Given the description of an element on the screen output the (x, y) to click on. 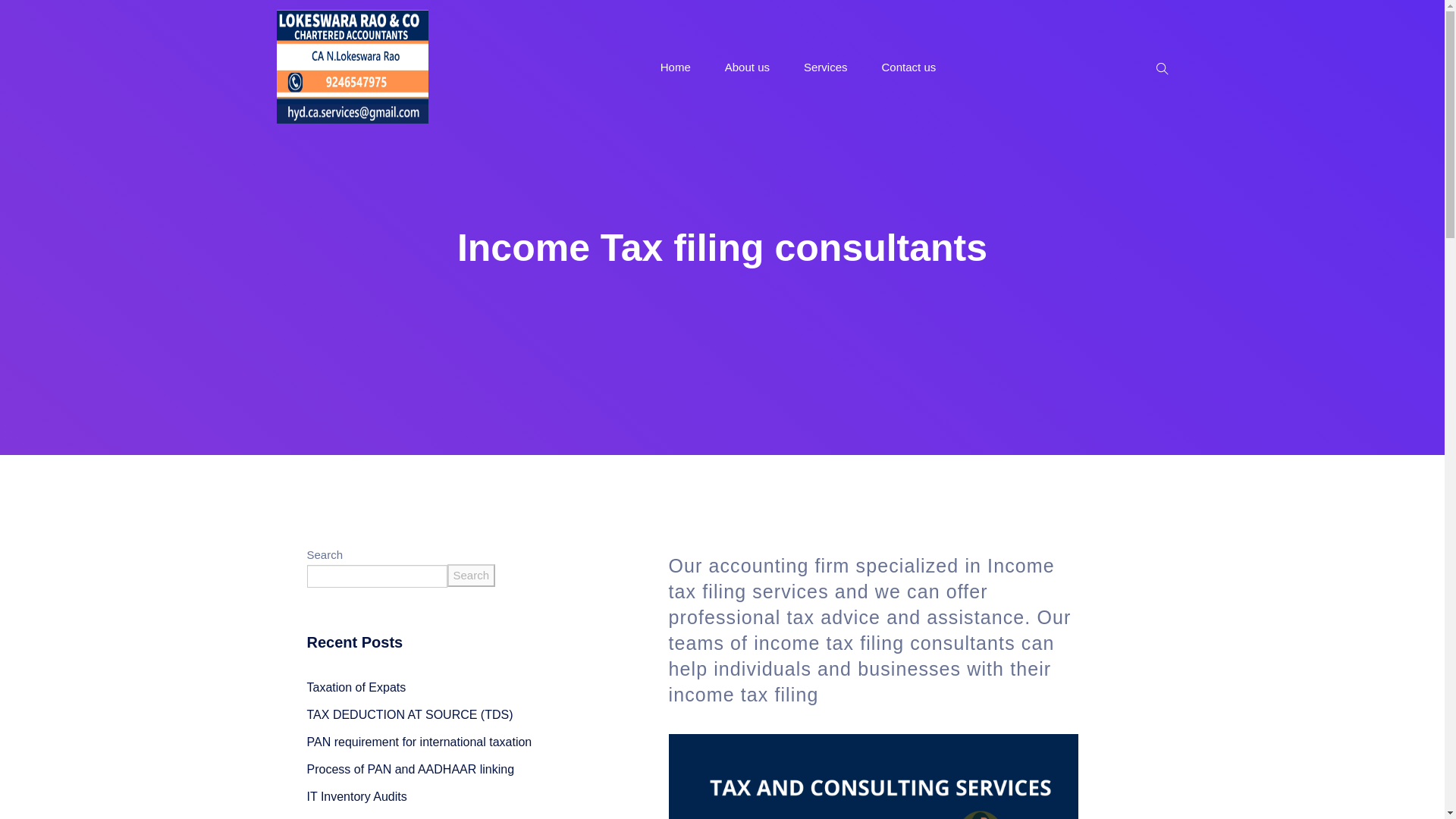
Services (825, 66)
Taxation of Expats (355, 686)
About us (747, 66)
Contact us (909, 66)
Income tax filing services (861, 578)
PAN requirement for international taxation (418, 741)
IT Inventory Audits (355, 796)
Search (471, 575)
Process of PAN and AADHAAR linking (409, 768)
Home (675, 66)
